Given the description of an element on the screen output the (x, y) to click on. 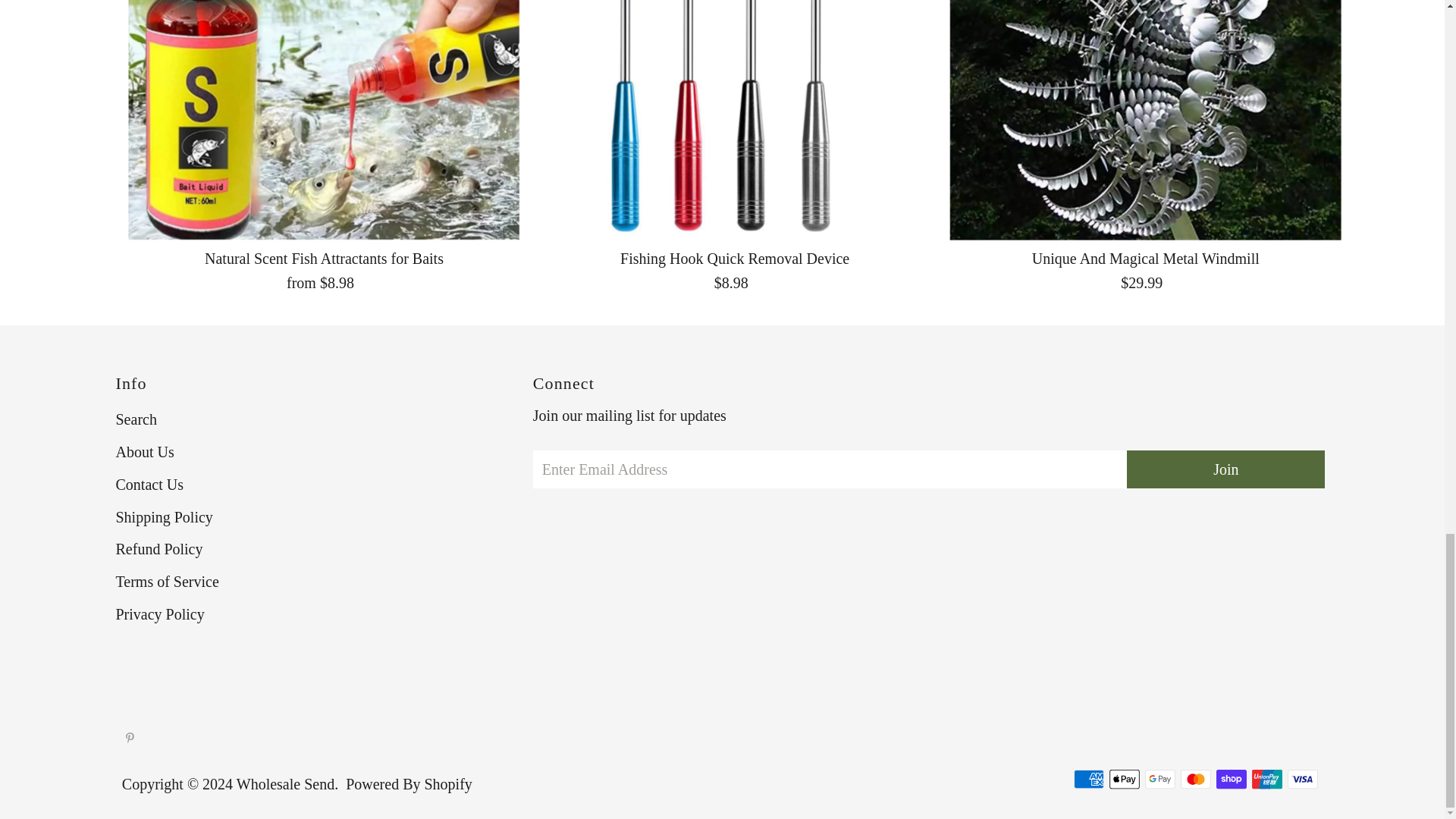
Mastercard (1195, 778)
Join (1225, 469)
Unique And Magical Metal Windmill (1144, 120)
Visa (1302, 778)
Union Pay (1267, 778)
Natural Scent Fish Attractants for Baits (323, 120)
Apple Pay (1124, 778)
Fishing Hook Quick Removal Device (734, 120)
Google Pay (1159, 778)
Shop Pay (1230, 778)
American Express (1088, 778)
